Given the description of an element on the screen output the (x, y) to click on. 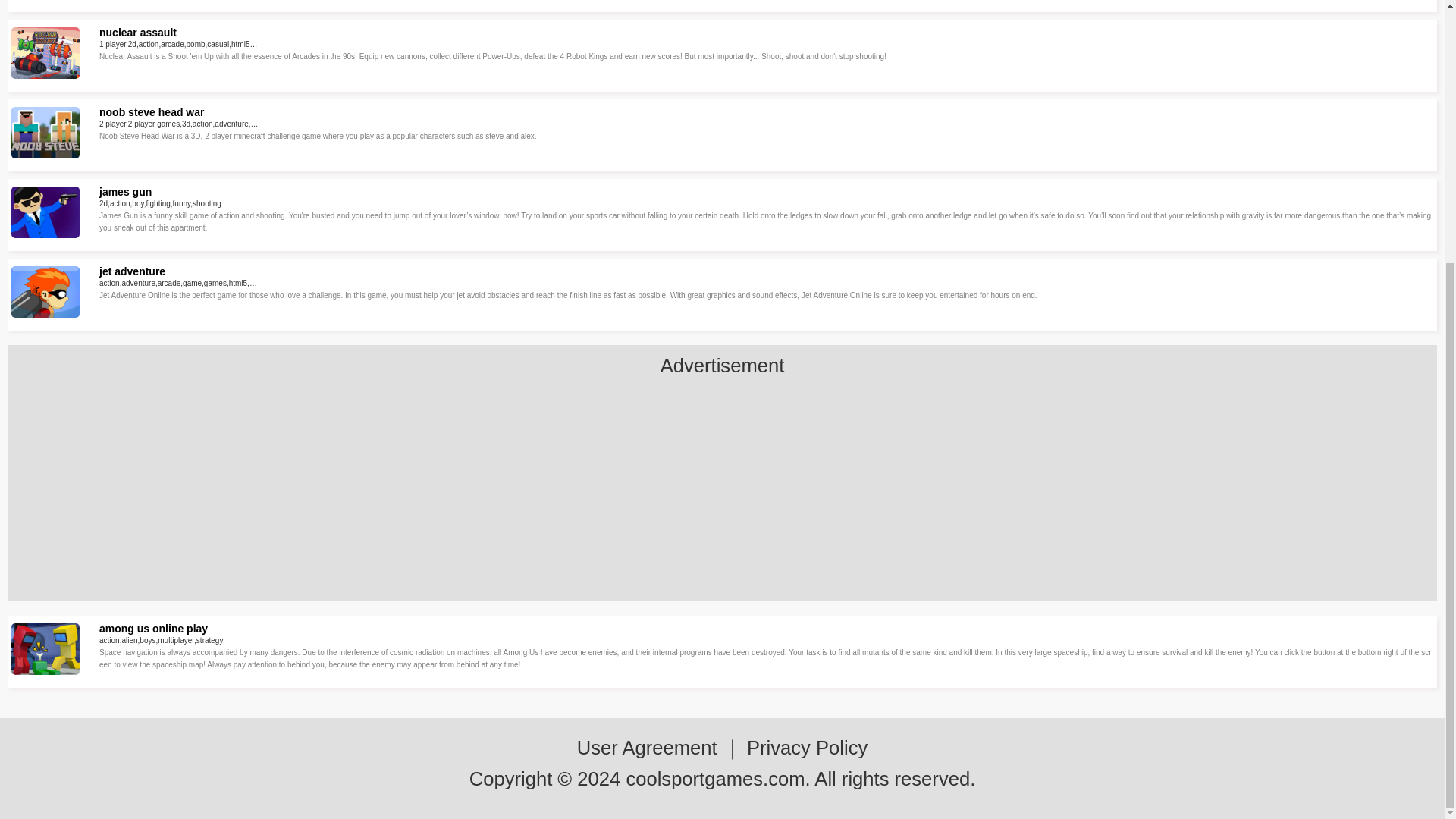
Advertisement (721, 494)
User Agreement (646, 747)
james gun (125, 191)
nuclear assault (137, 32)
noob steve head war (151, 111)
Privacy Policy (806, 747)
jet adventure (132, 271)
among us online play (153, 628)
